Given the description of an element on the screen output the (x, y) to click on. 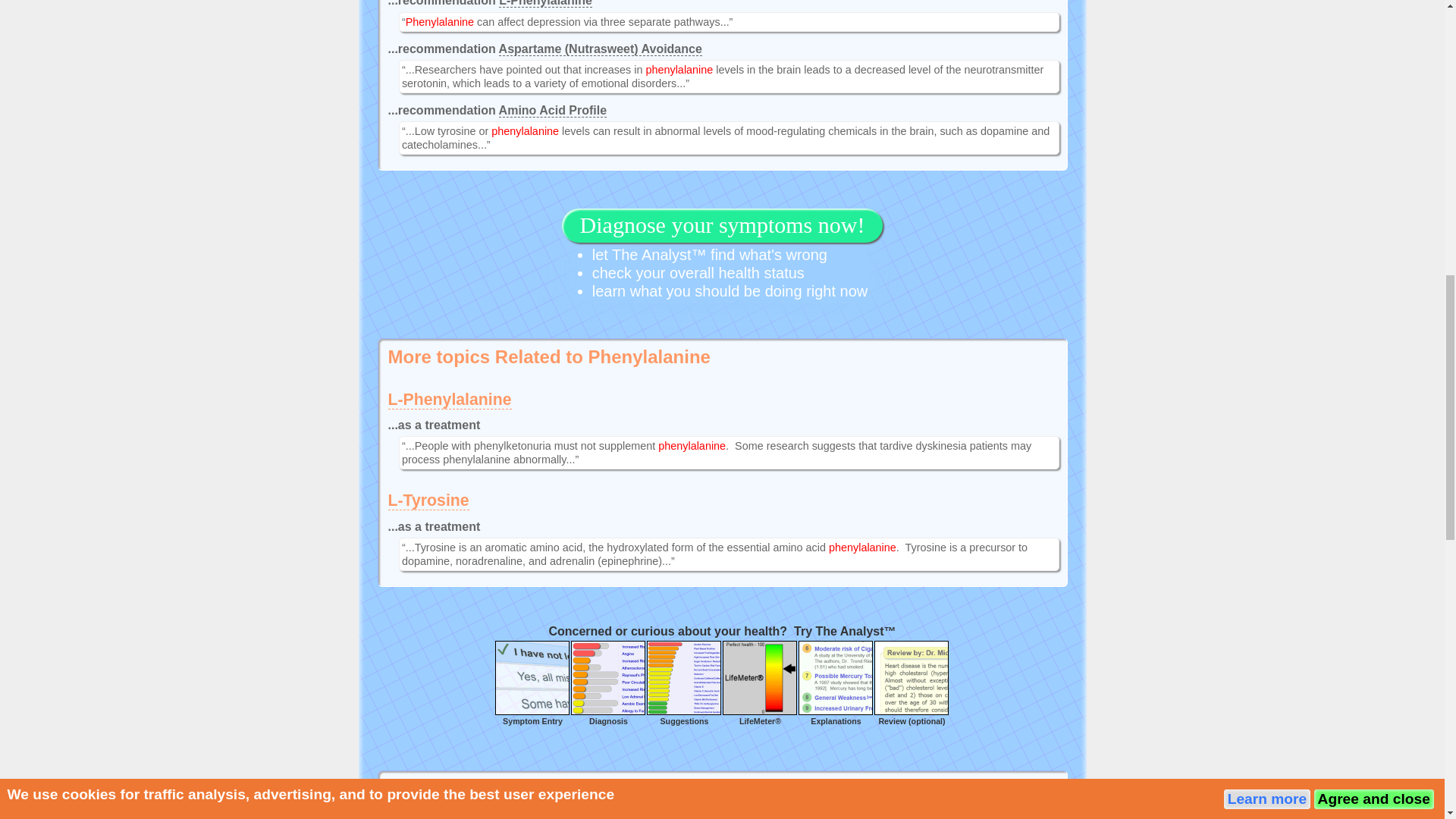
Amino Acid Profile (553, 110)
L-Phenylalanine (545, 3)
L-Tyrosine (428, 500)
L-Phenylalanine (450, 399)
Diagnose your symptoms now! (722, 228)
